Given the description of an element on the screen output the (x, y) to click on. 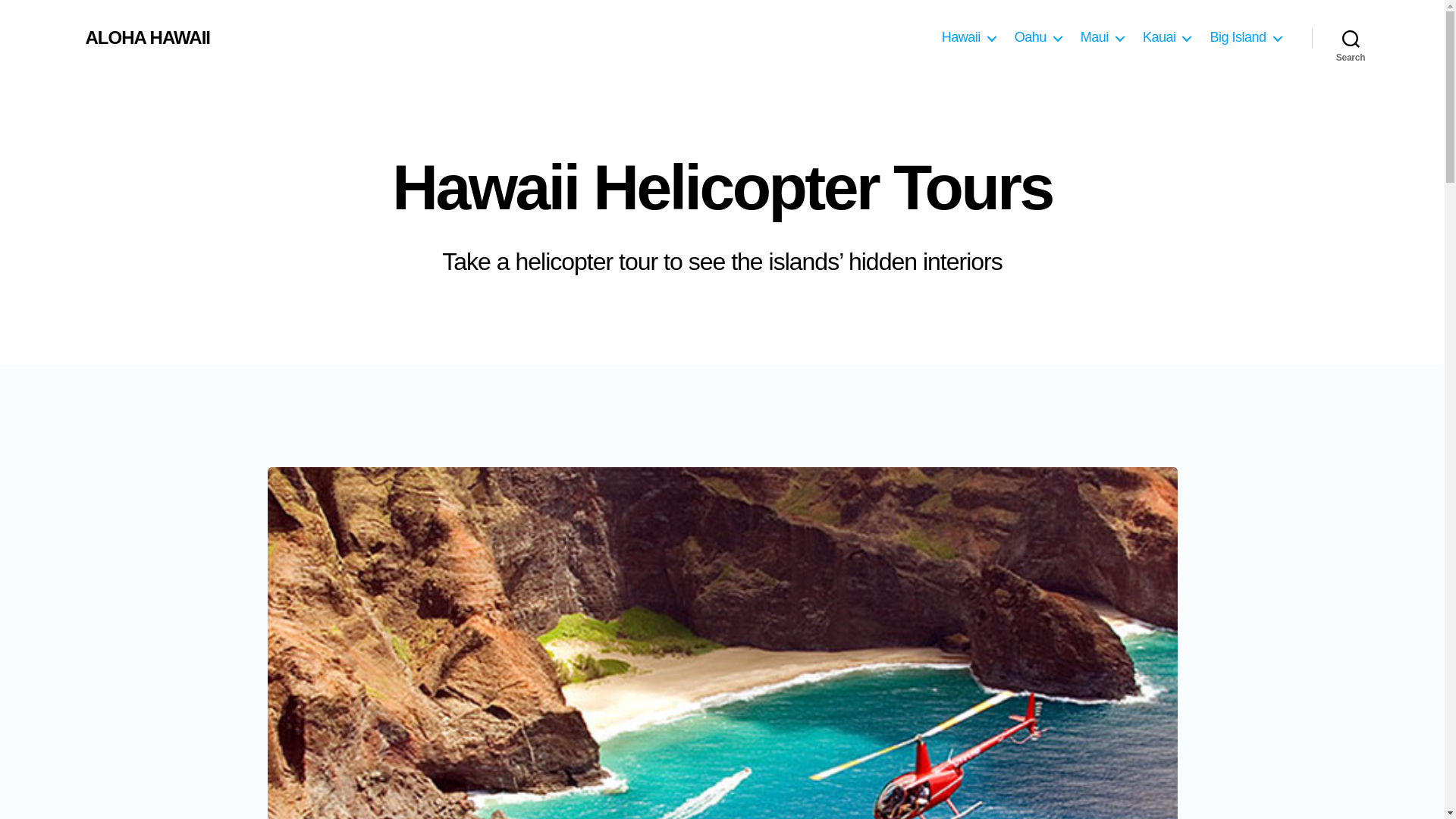
Hawaii Vacation (968, 37)
Maui (1102, 37)
Search (1350, 37)
Kauai (1166, 37)
Hawaii (968, 37)
Oahu (1037, 37)
Big Island (1245, 37)
ALOHA HAWAII (146, 37)
